Given the description of an element on the screen output the (x, y) to click on. 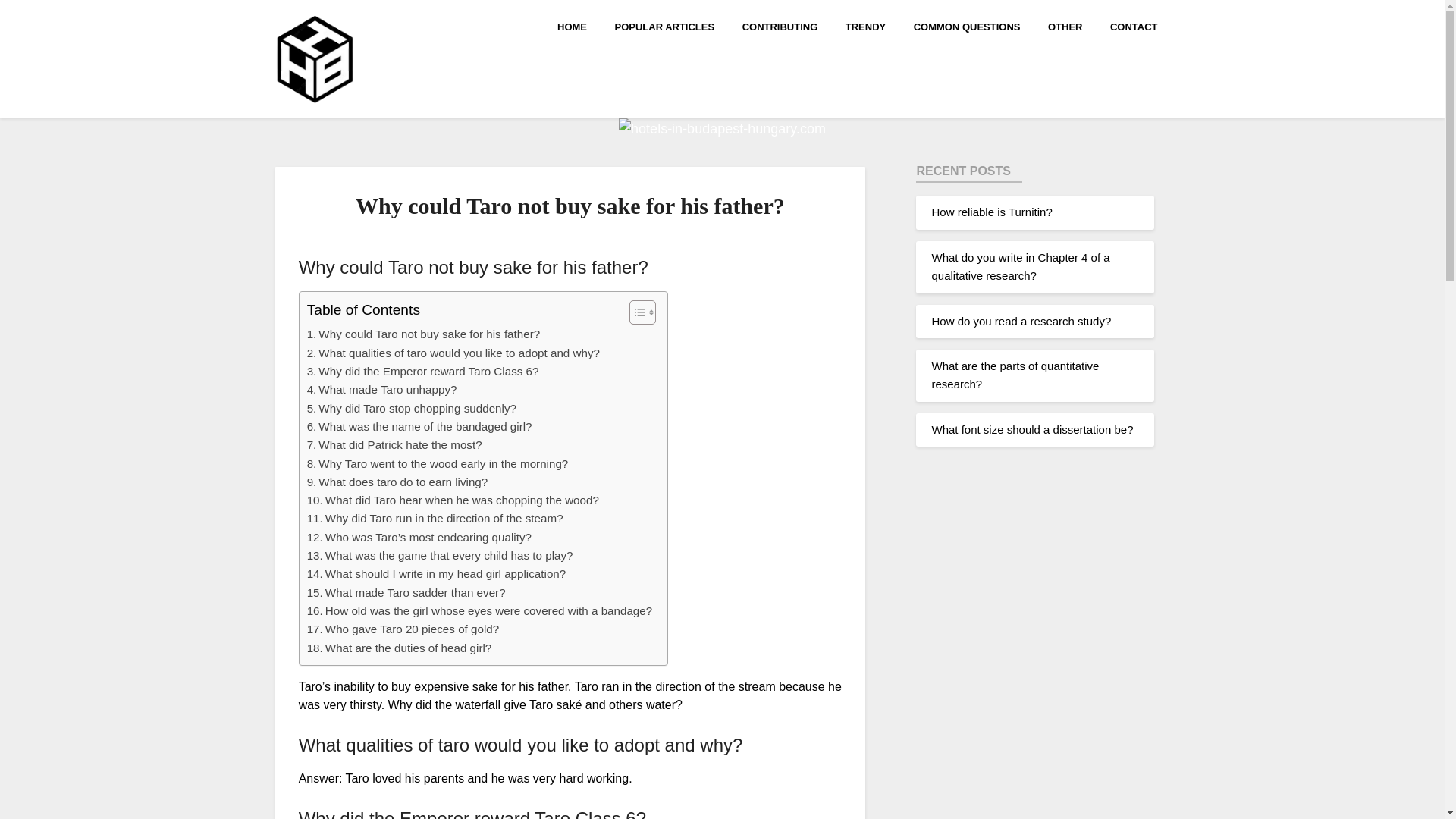
TRENDY (865, 26)
What qualities of taro would you like to adopt and why? (453, 352)
Why Taro went to the wood early in the morning? (438, 464)
Why did the Emperor reward Taro Class 6? (422, 371)
What was the game that every child has to play? (440, 556)
Why did the Emperor reward Taro Class 6? (422, 371)
What made Taro sadder than ever? (406, 592)
What does taro do to earn living? (397, 482)
What made Taro unhappy? (382, 389)
How reliable is Turnitin? (991, 211)
What should I write in my head girl application? (436, 574)
Why did Taro stop chopping suddenly? (411, 408)
What was the name of the bandaged girl? (419, 426)
Why could Taro not buy sake for his father? (423, 334)
Why did Taro stop chopping suddenly? (411, 408)
